Given the description of an element on the screen output the (x, y) to click on. 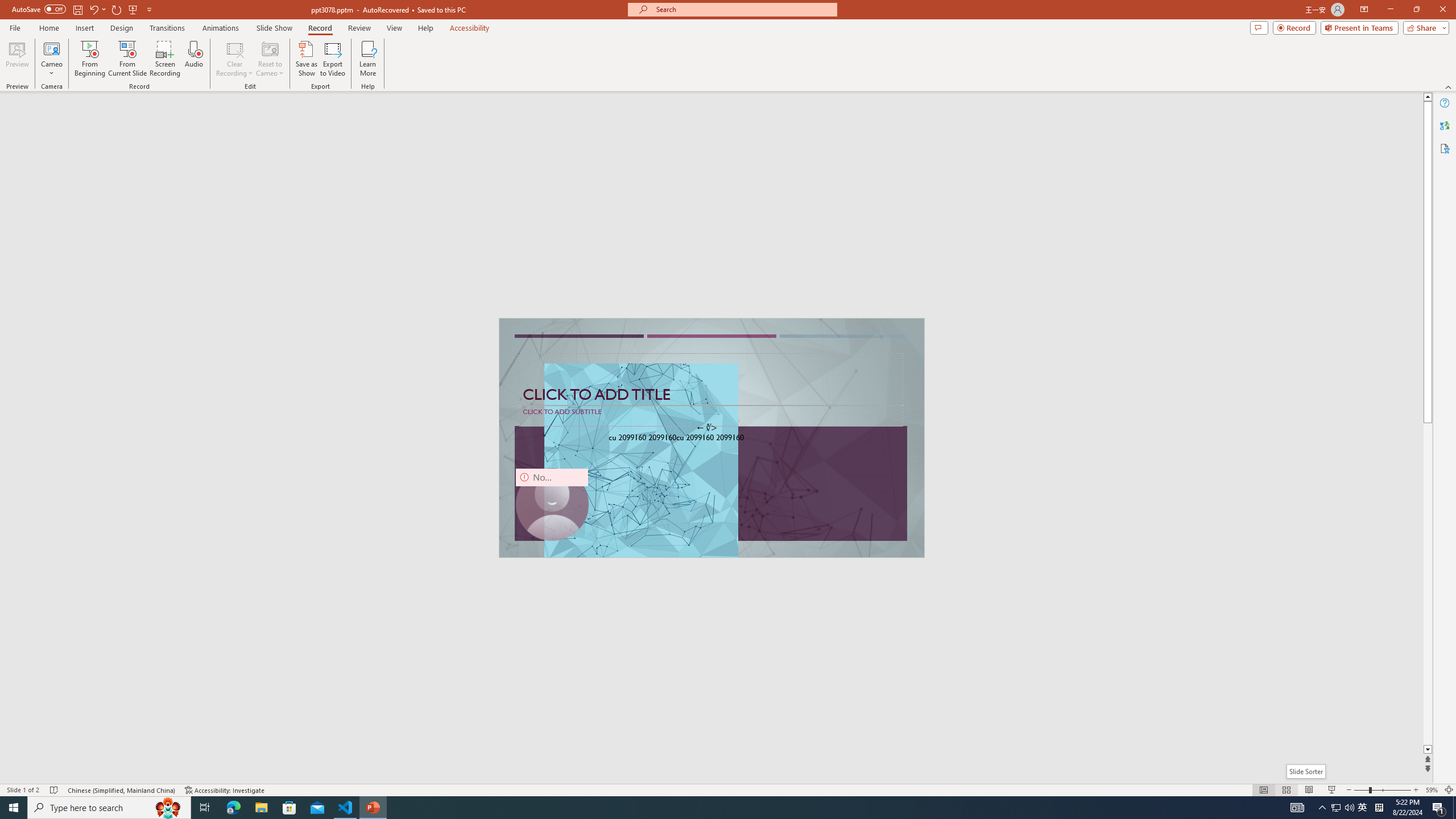
Reload (510, 508)
Explorer actions (222, 183)
Microsoft Rewards (940, 122)
Outline Section (188, 615)
Class: ___1lmltc5 f1agt3bx f12qytpq (962, 122)
